Given the description of an element on the screen output the (x, y) to click on. 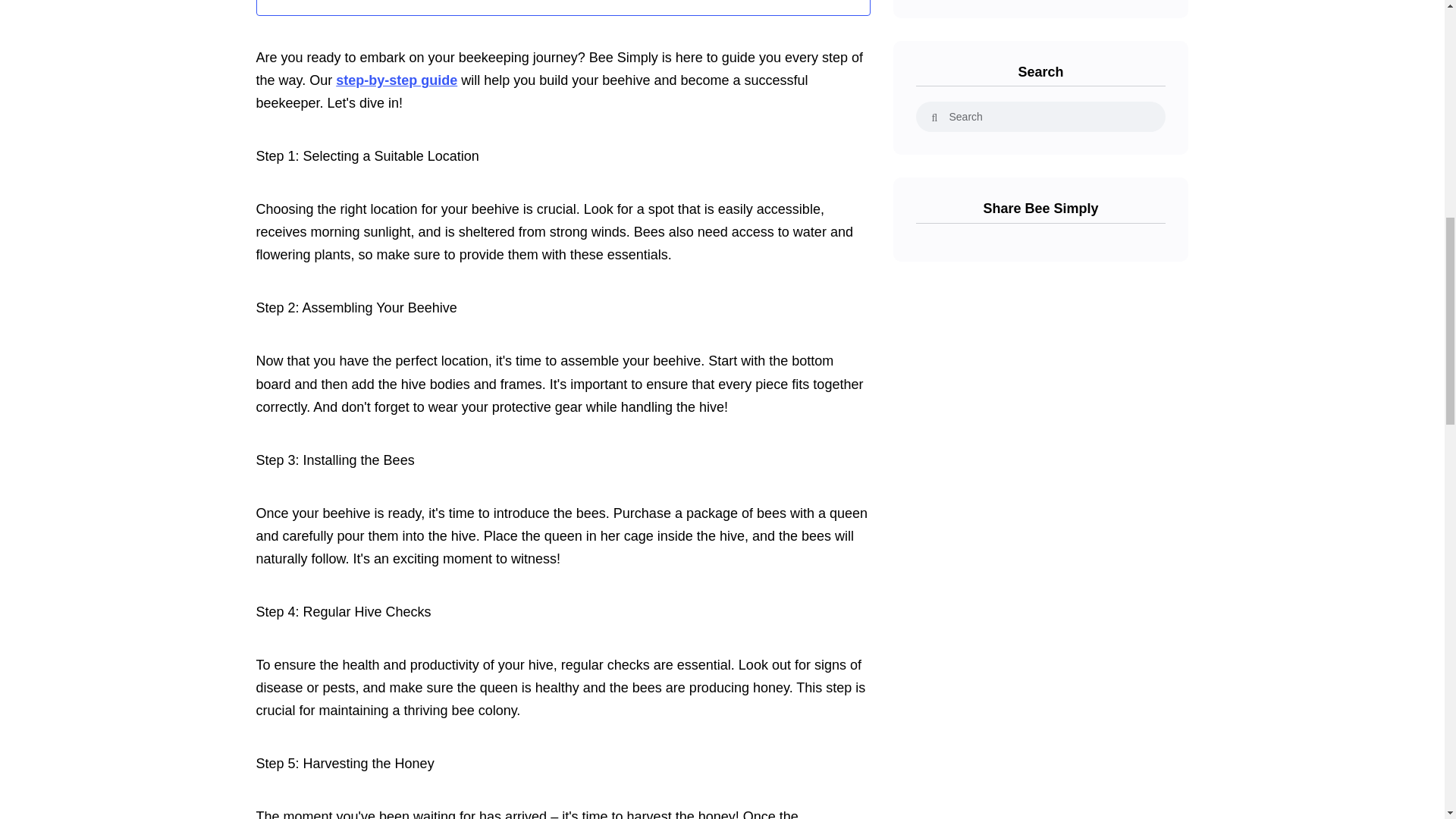
Step-by-step guide (396, 79)
